Given the description of an element on the screen output the (x, y) to click on. 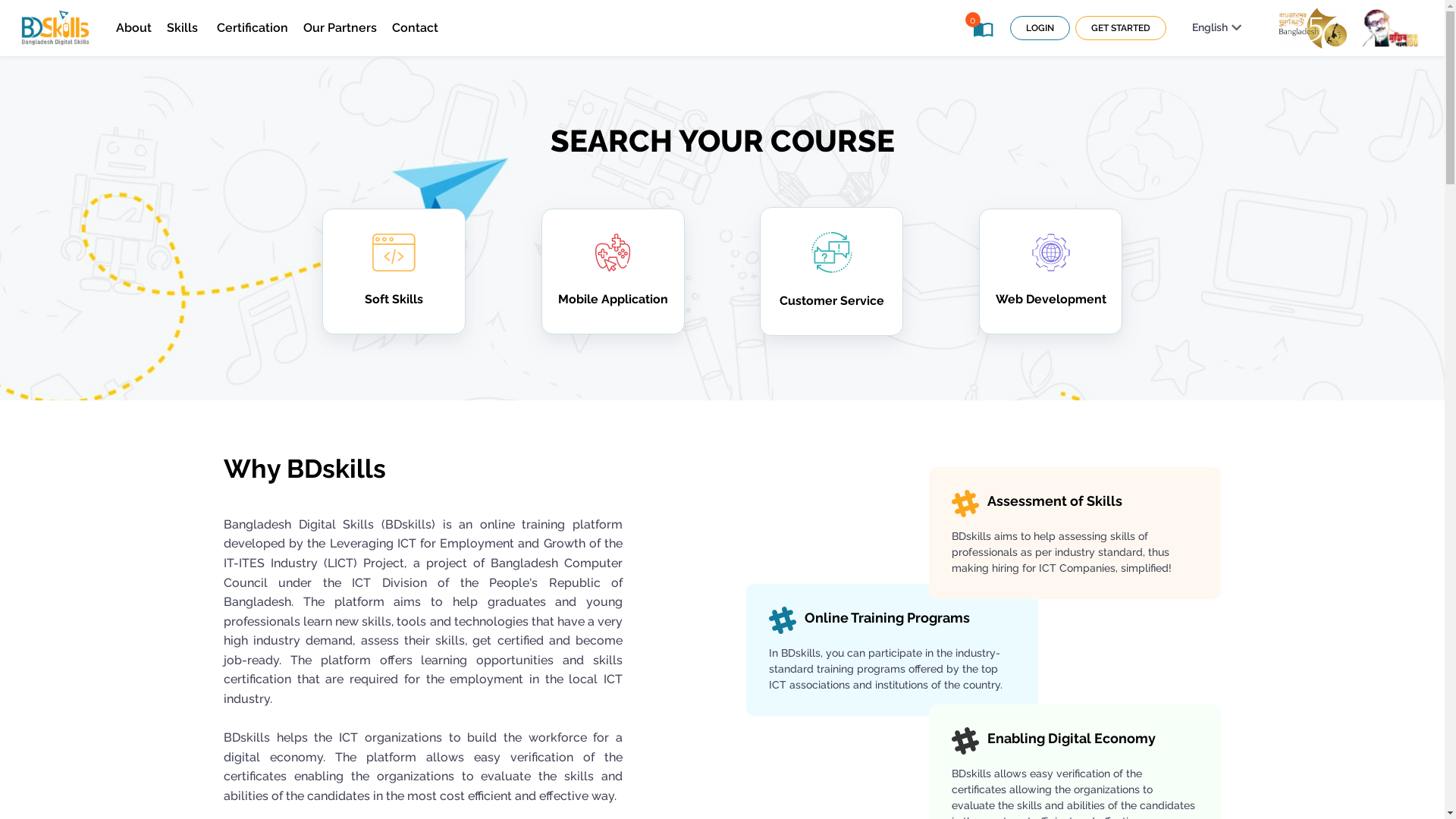
Soft Skills Element type: text (393, 271)
Web Development Element type: text (1050, 271)
Customer Service Element type: text (831, 271)
Contact Element type: text (414, 27)
About Element type: text (132, 27)
Mobile Application Element type: text (612, 271)
LOGIN Element type: text (1040, 27)
Certification Element type: text (252, 27)
0 Element type: text (984, 29)
GET STARTED Element type: text (1120, 27)
Our Partners Element type: text (339, 27)
Skills Element type: text (184, 27)
